Given the description of an element on the screen output the (x, y) to click on. 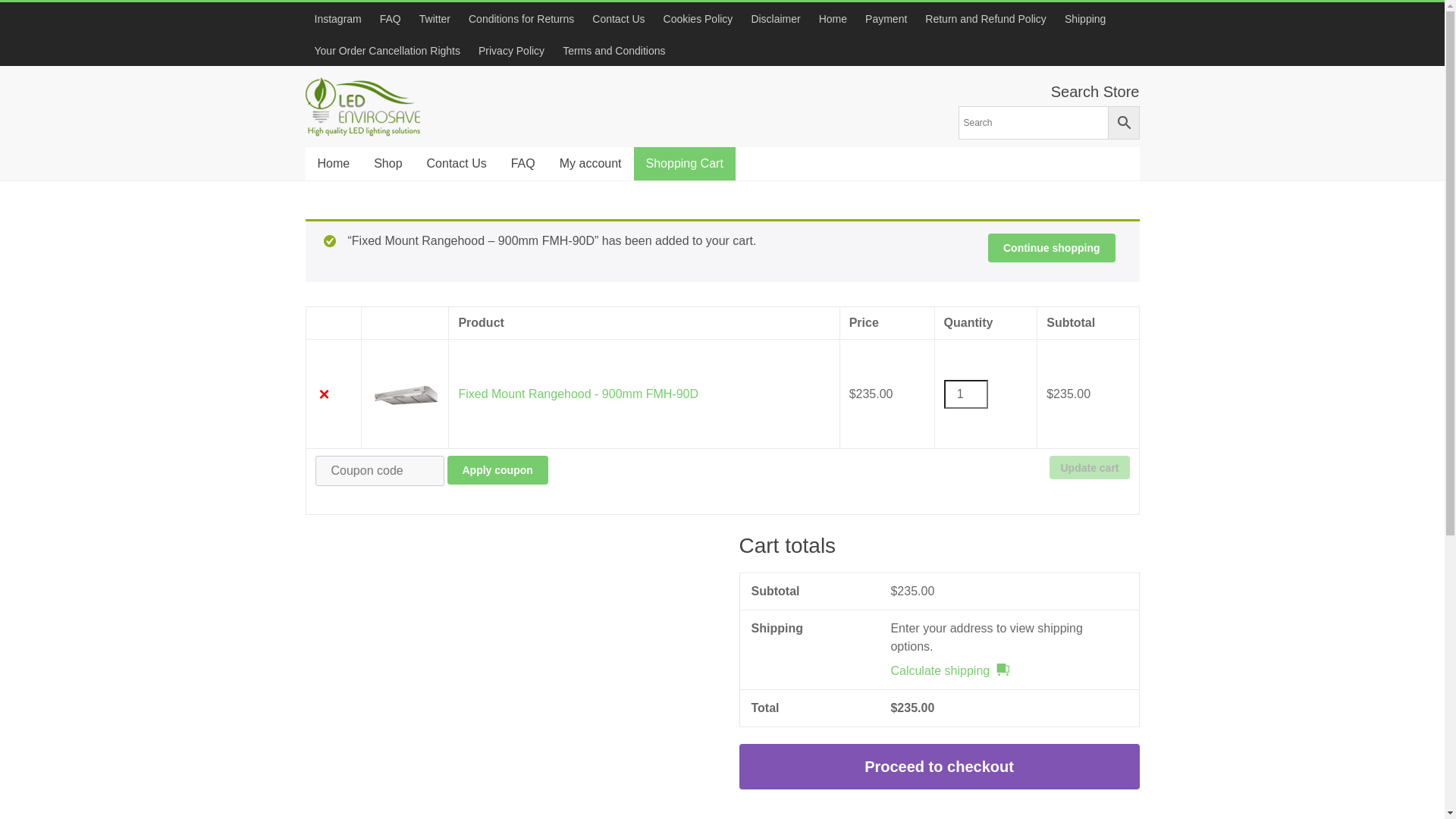
Home Element type: text (832, 18)
Return and Refund Policy Element type: text (985, 18)
Conditions for Returns Element type: text (521, 18)
Shopping Cart Element type: text (684, 163)
Apply coupon Element type: text (497, 469)
Contact Us Element type: text (456, 163)
Proceed to checkout Element type: text (938, 766)
Privacy Policy Element type: text (511, 49)
Calculate shipping Element type: text (949, 671)
Shop Element type: text (387, 163)
Fixed Mount Rangehood - 900mm FMH-90D Element type: text (578, 392)
Continue shopping Element type: text (1051, 247)
Disclaimer Element type: text (775, 18)
Instagram Element type: text (337, 18)
Cookies Policy Element type: text (698, 18)
Payment Element type: text (886, 18)
Update cart Element type: text (1089, 467)
Home Element type: text (332, 163)
Your Order Cancellation Rights Element type: text (386, 49)
My account Element type: text (590, 163)
Contact Us Element type: text (618, 18)
FAQ Element type: text (522, 163)
Led Lighting Products Australia Element type: text (358, 136)
Terms and Conditions Element type: text (609, 49)
Shipping Element type: text (1085, 18)
Twitter Element type: text (434, 18)
FAQ Element type: text (390, 18)
